Given the description of an element on the screen output the (x, y) to click on. 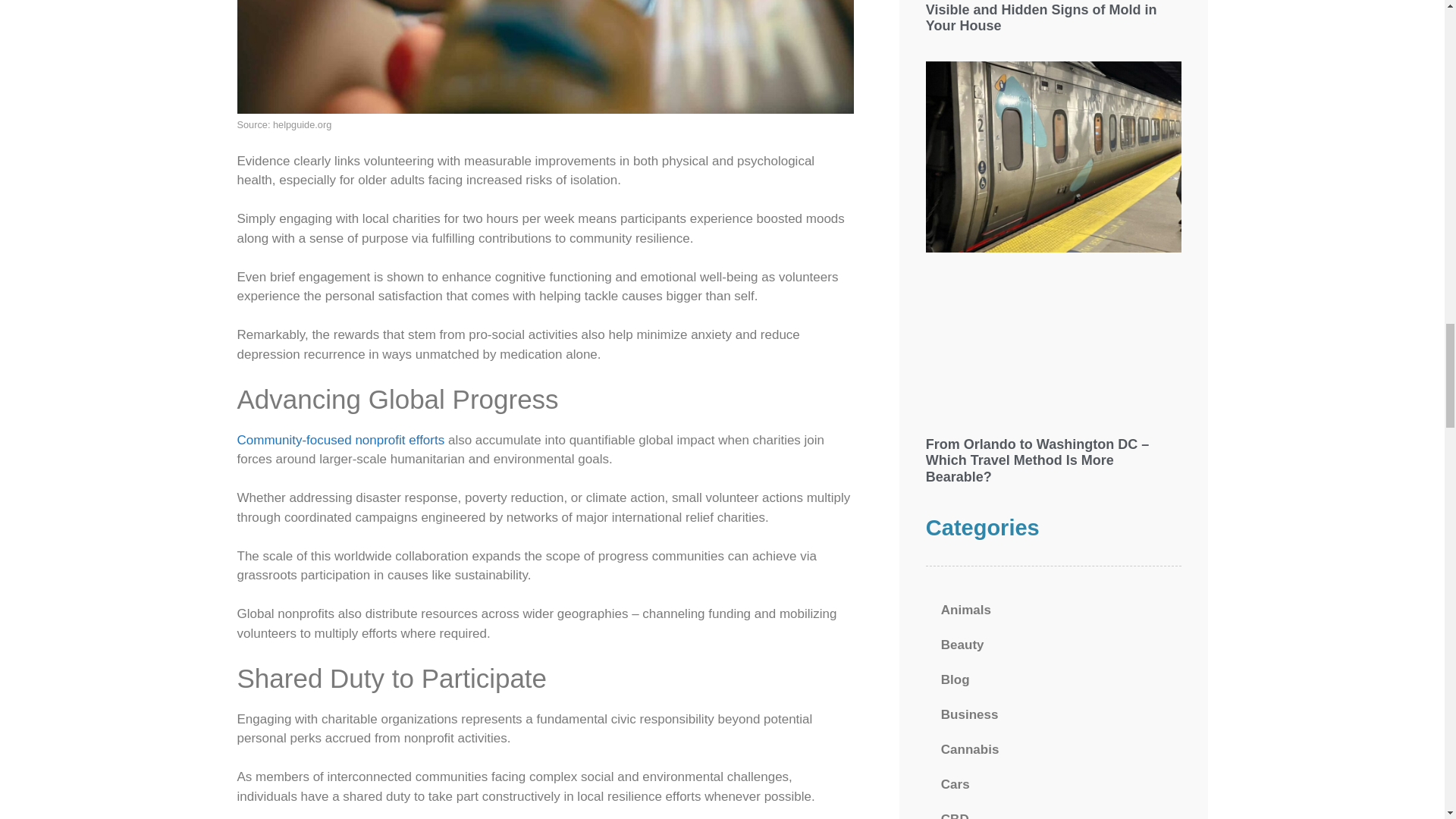
Community-focused nonprofit efforts (339, 440)
